Given the description of an element on the screen output the (x, y) to click on. 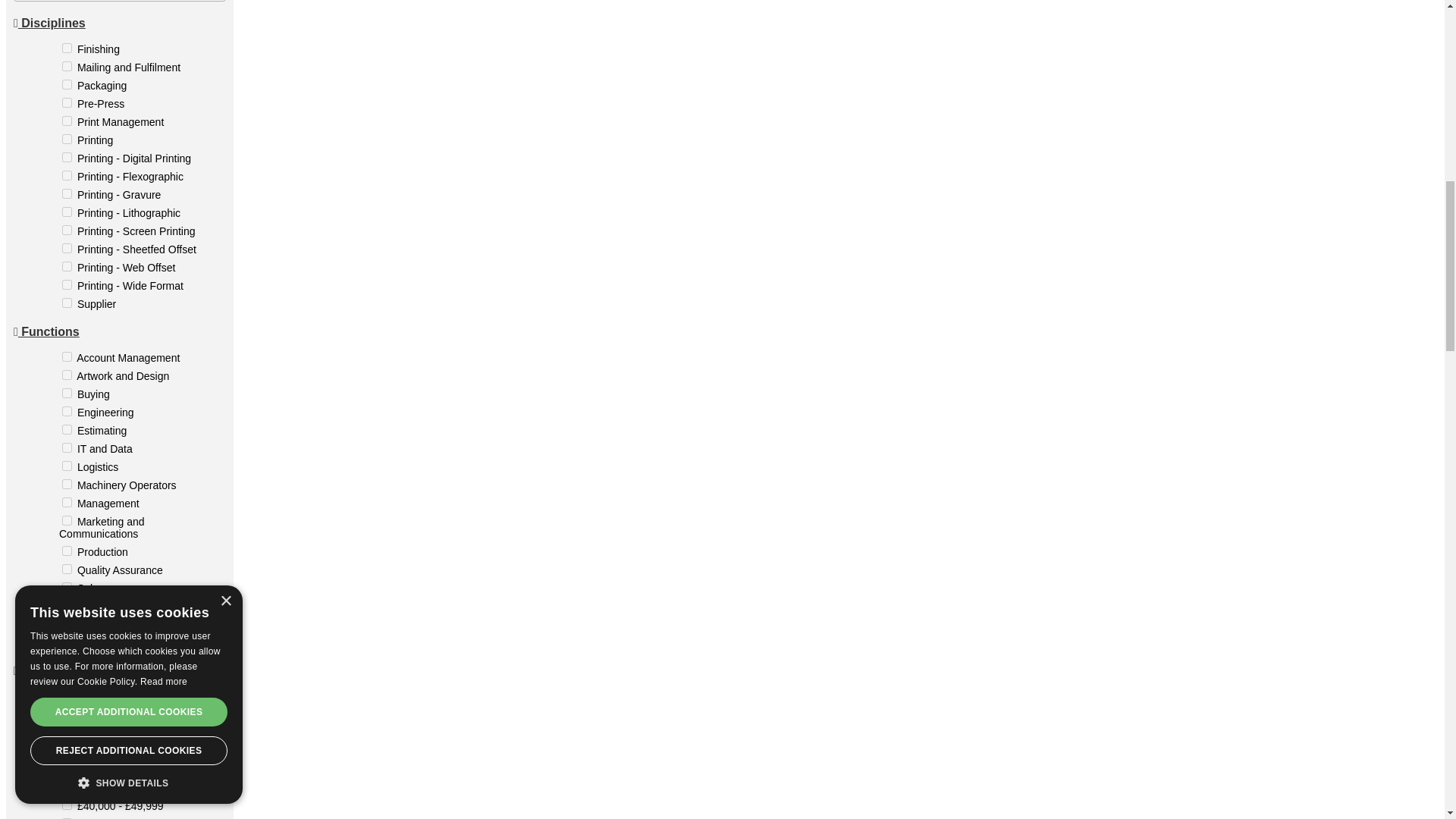
94 (66, 302)
71 (66, 139)
21 (66, 356)
69 (66, 102)
90 (66, 230)
23 (66, 393)
68 (66, 84)
Salary Range (56, 670)
Disciplines (49, 22)
66 (66, 48)
22 (66, 375)
92 (66, 266)
67 (66, 66)
87 (66, 175)
88 (66, 194)
